Given the description of an element on the screen output the (x, y) to click on. 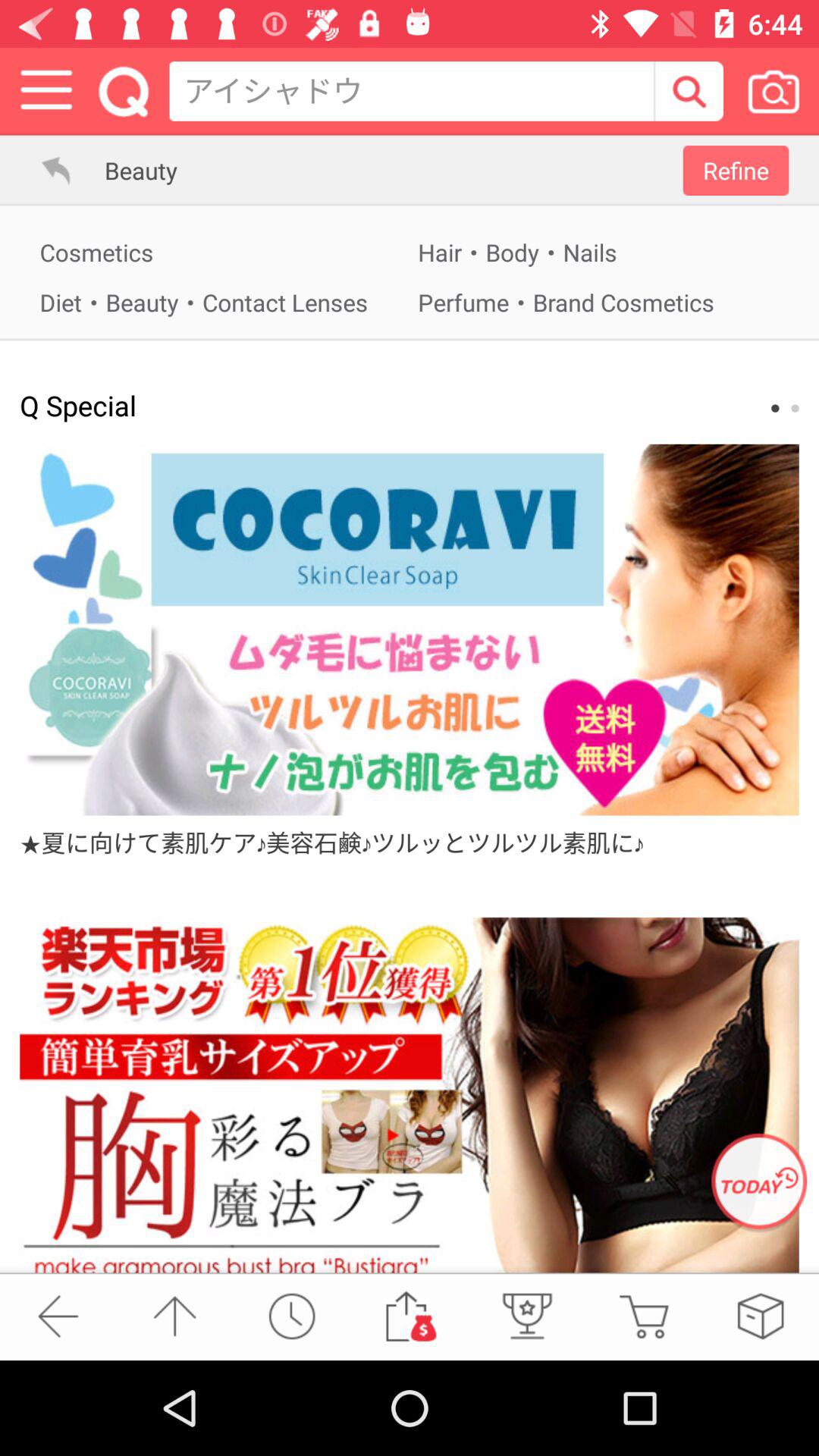
go back (58, 1316)
